Given the description of an element on the screen output the (x, y) to click on. 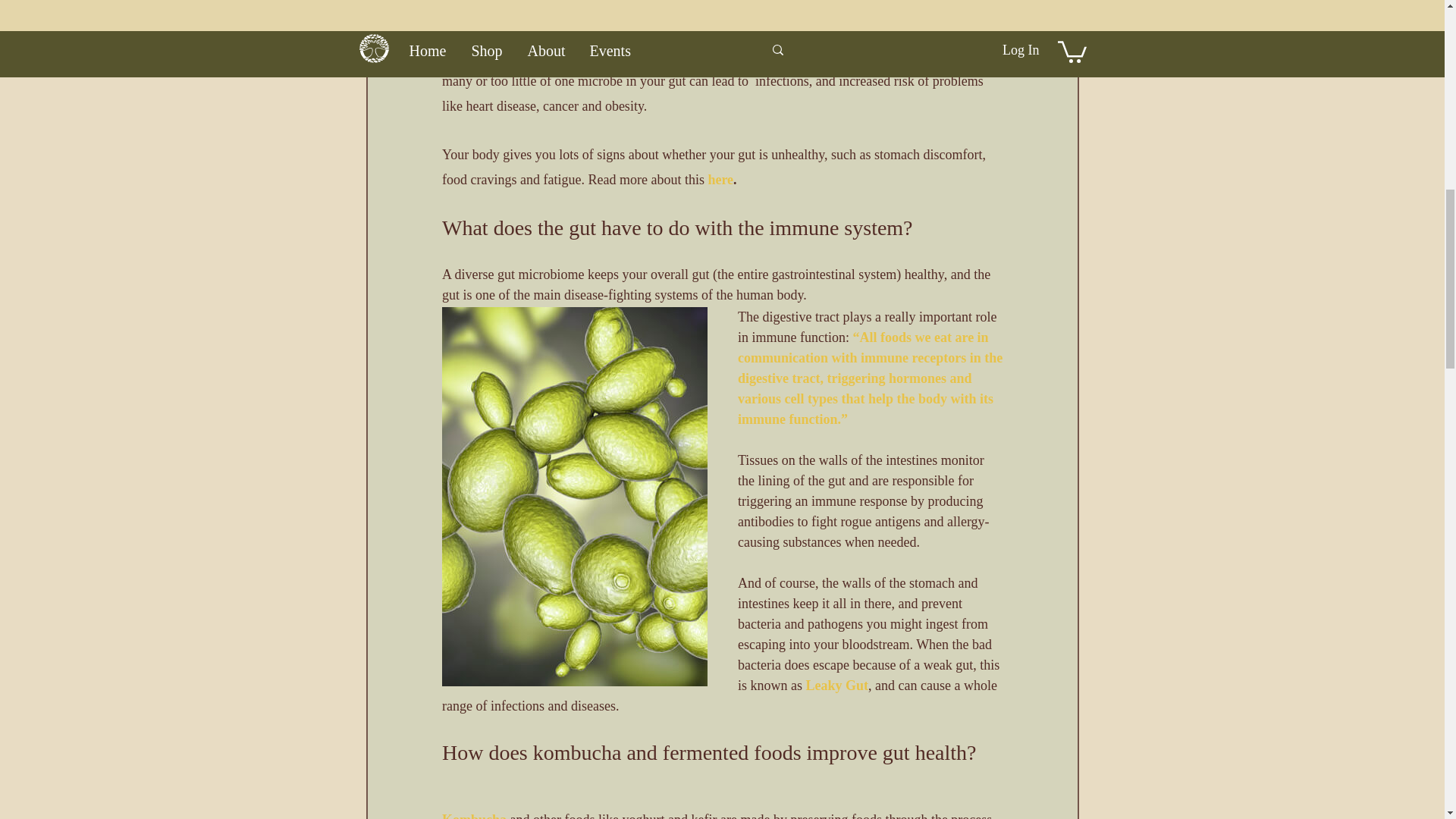
Leaky Gut (836, 685)
here (720, 179)
Kombucha (473, 815)
